Given the description of an element on the screen output the (x, y) to click on. 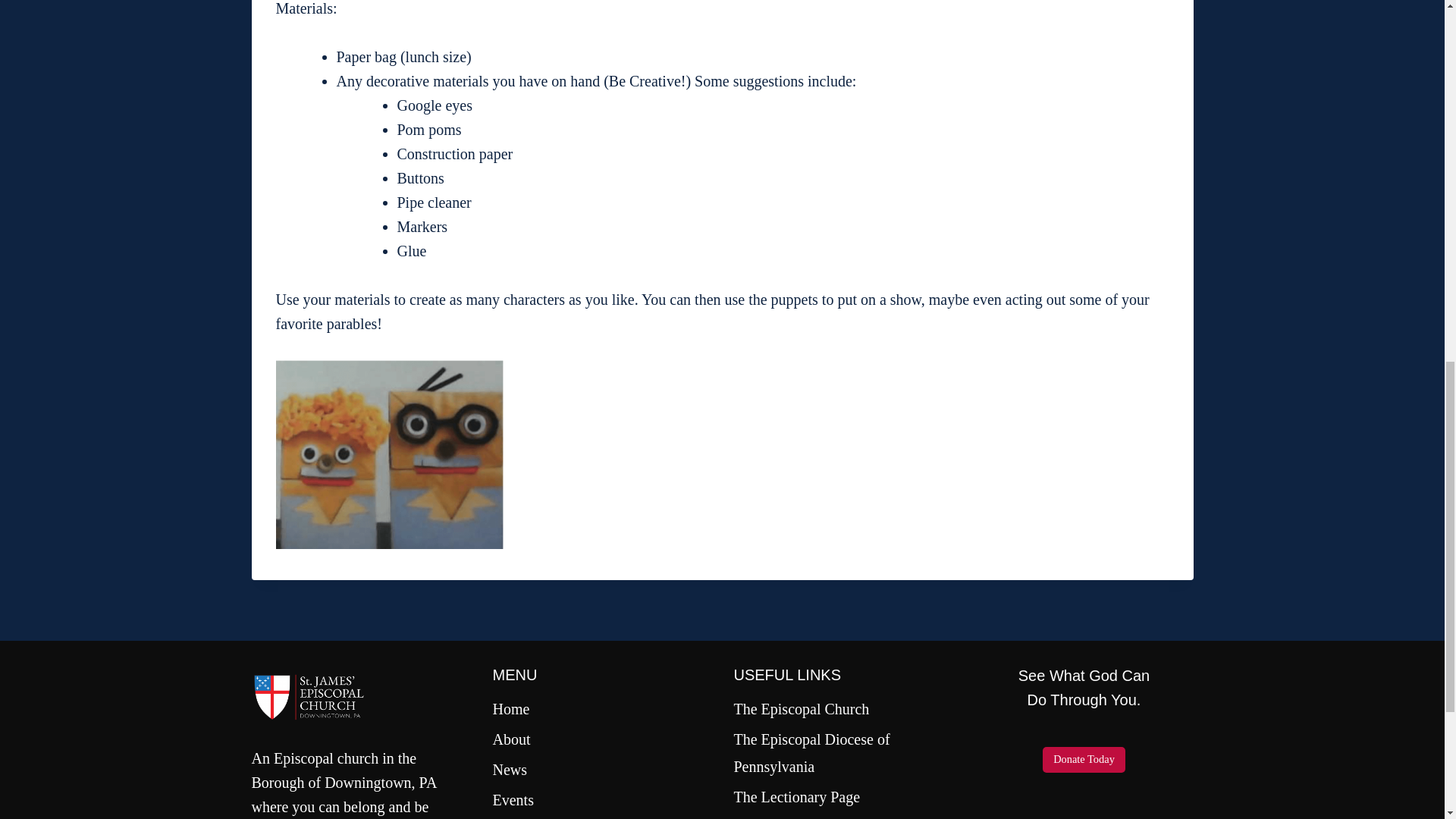
The Lectionary Page (842, 797)
News (602, 769)
Contact (602, 816)
Donate Today (1083, 759)
About (602, 738)
Daily Prayer (842, 815)
Events (602, 799)
The Episcopal Diocese of Pennsylvania (842, 752)
The Episcopal Church (842, 708)
Home (602, 708)
